Given the description of an element on the screen output the (x, y) to click on. 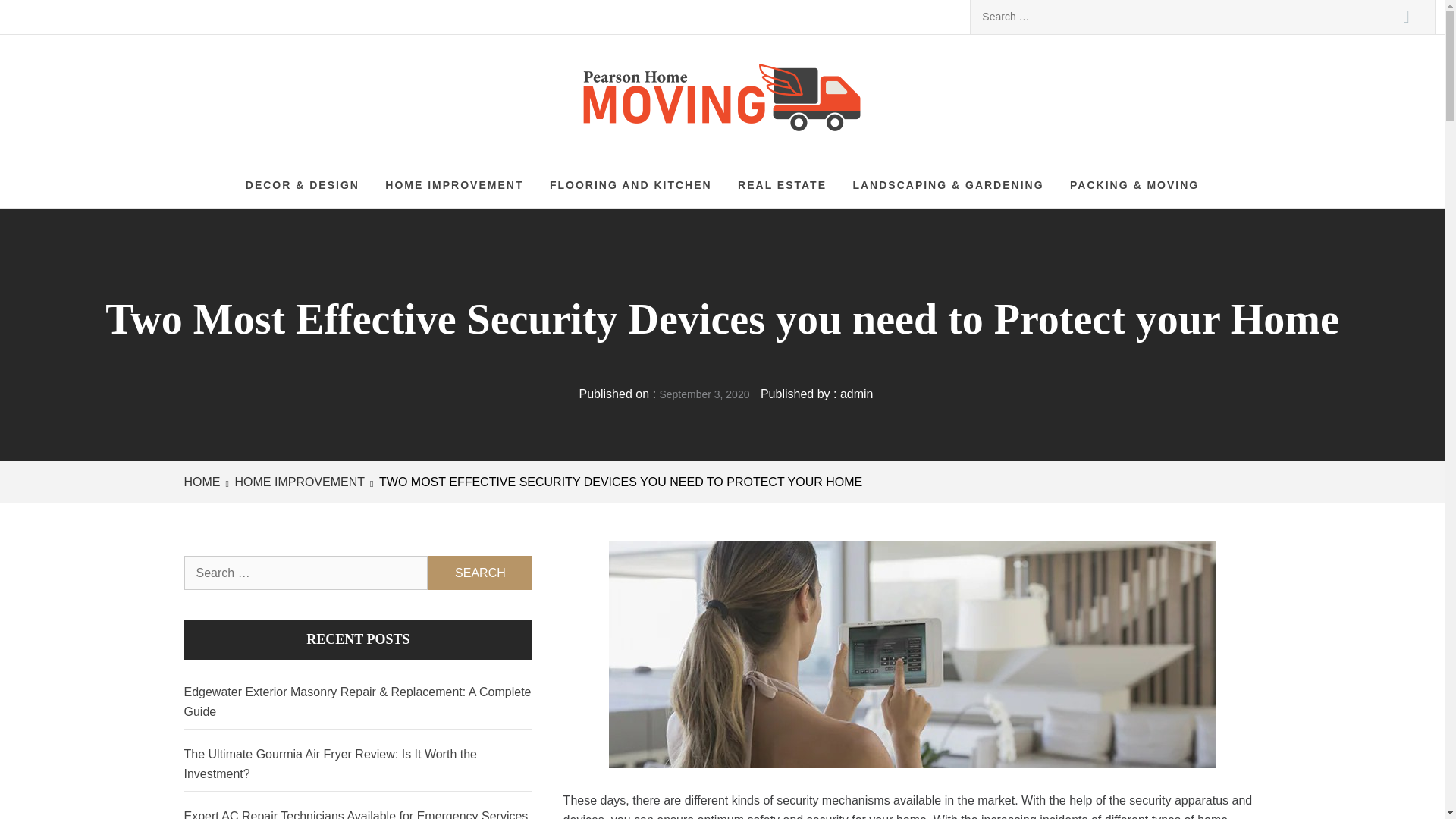
Search (1405, 17)
HOME (204, 481)
REAL ESTATE (782, 185)
Search (480, 572)
FLOORING AND KITCHEN (630, 185)
Search (1405, 17)
admin (856, 393)
September 3, 2020 (704, 394)
Search (480, 572)
Pearson Home Moving (800, 90)
HOME IMPROVEMENT (454, 185)
Search (480, 572)
